Given the description of an element on the screen output the (x, y) to click on. 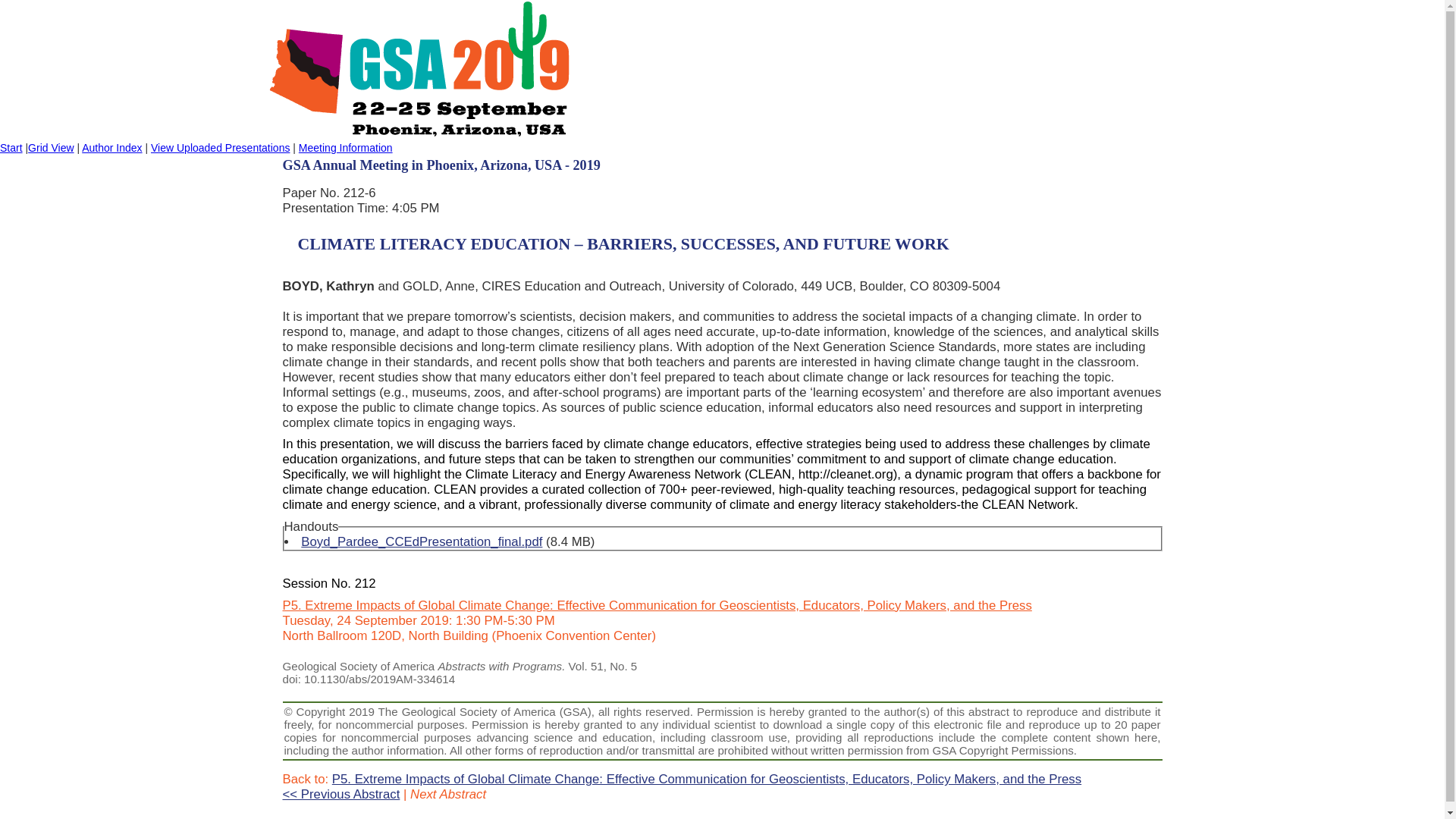
View Uploaded Presentations (220, 147)
Meeting Information (345, 147)
Author Index (111, 147)
Grid View (50, 147)
Start (11, 147)
